Given the description of an element on the screen output the (x, y) to click on. 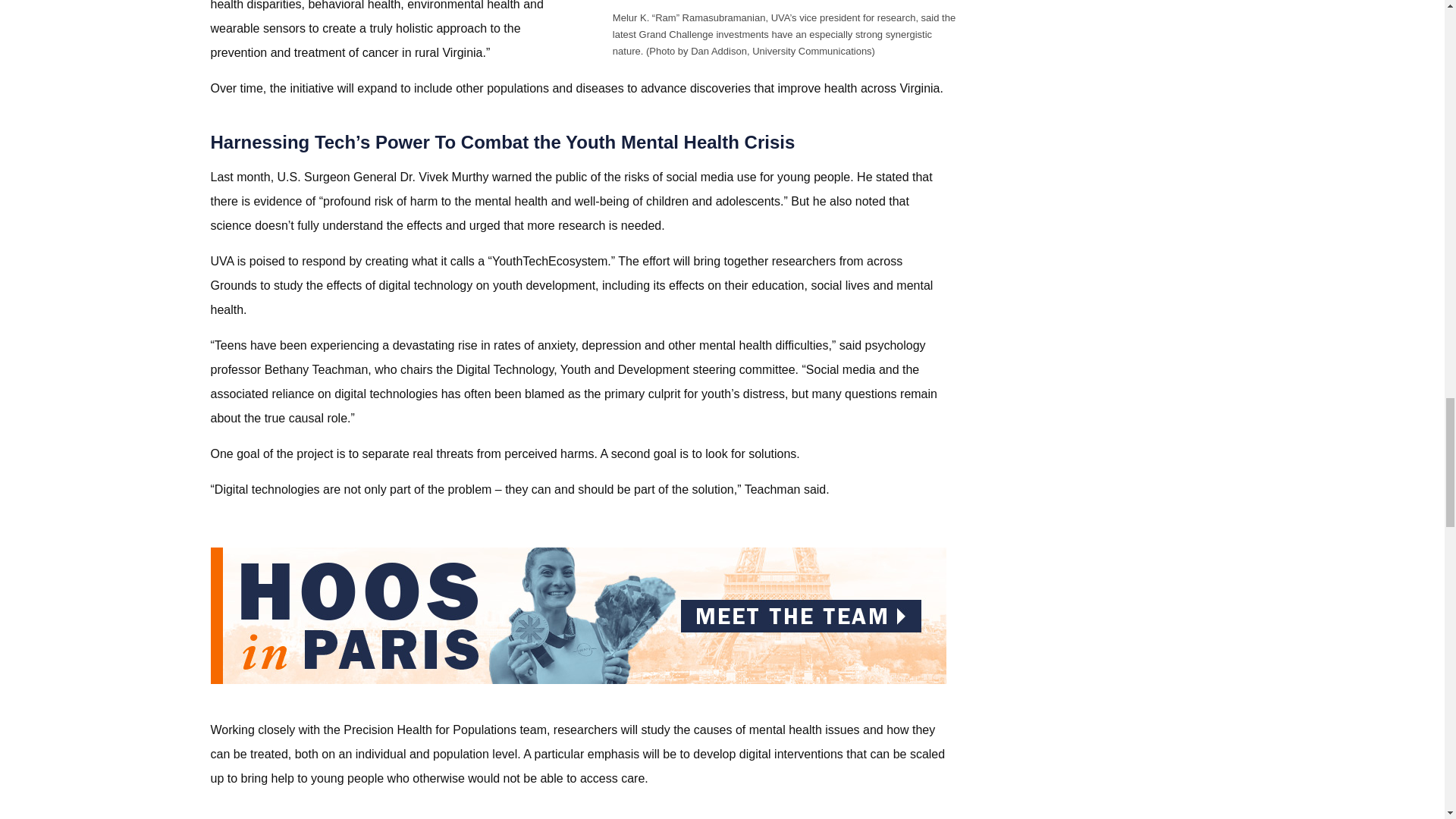
UVA Altheles competing for Gold in the Paris Olympics  (578, 679)
